Given the description of an element on the screen output the (x, y) to click on. 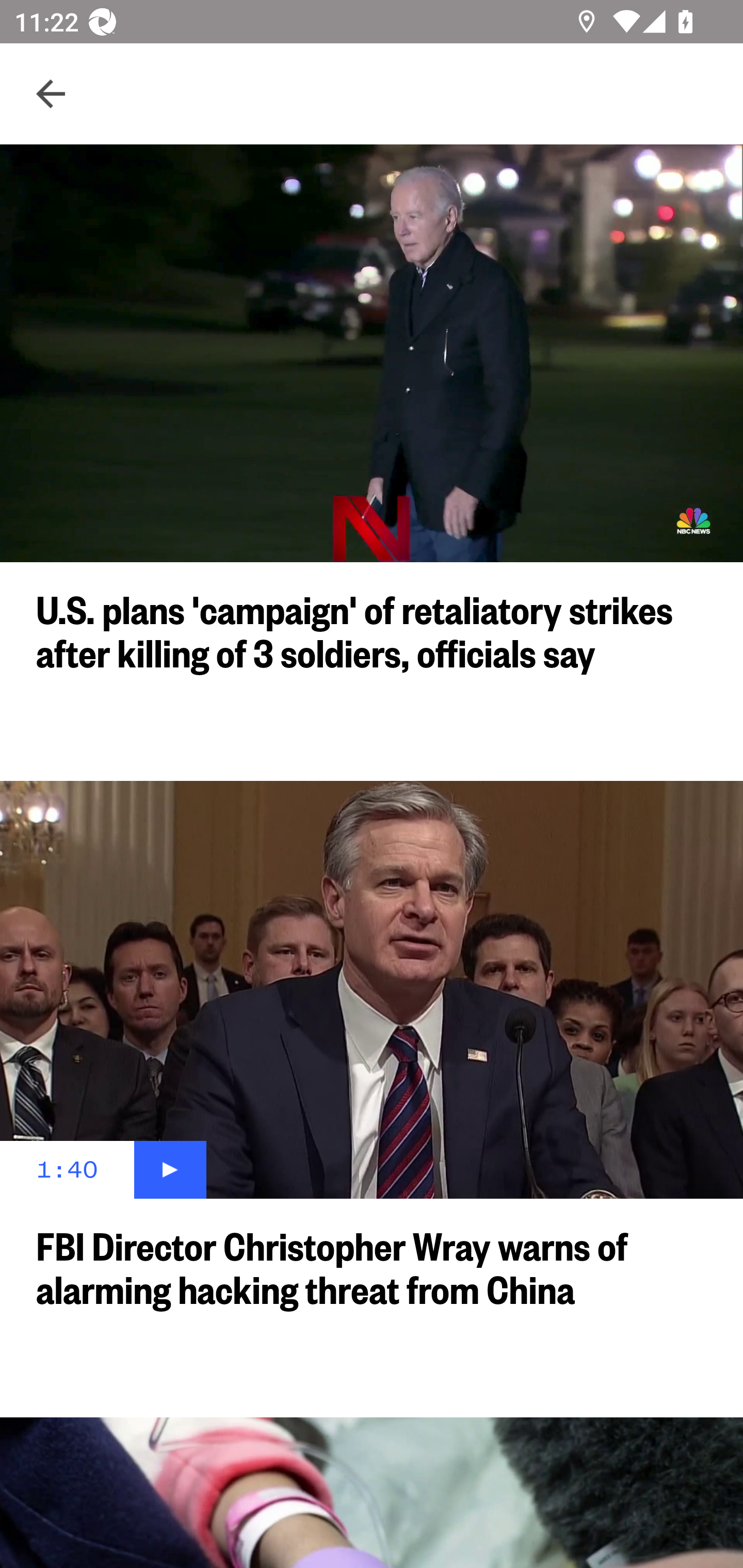
Navigate up (50, 93)
